Given the description of an element on the screen output the (x, y) to click on. 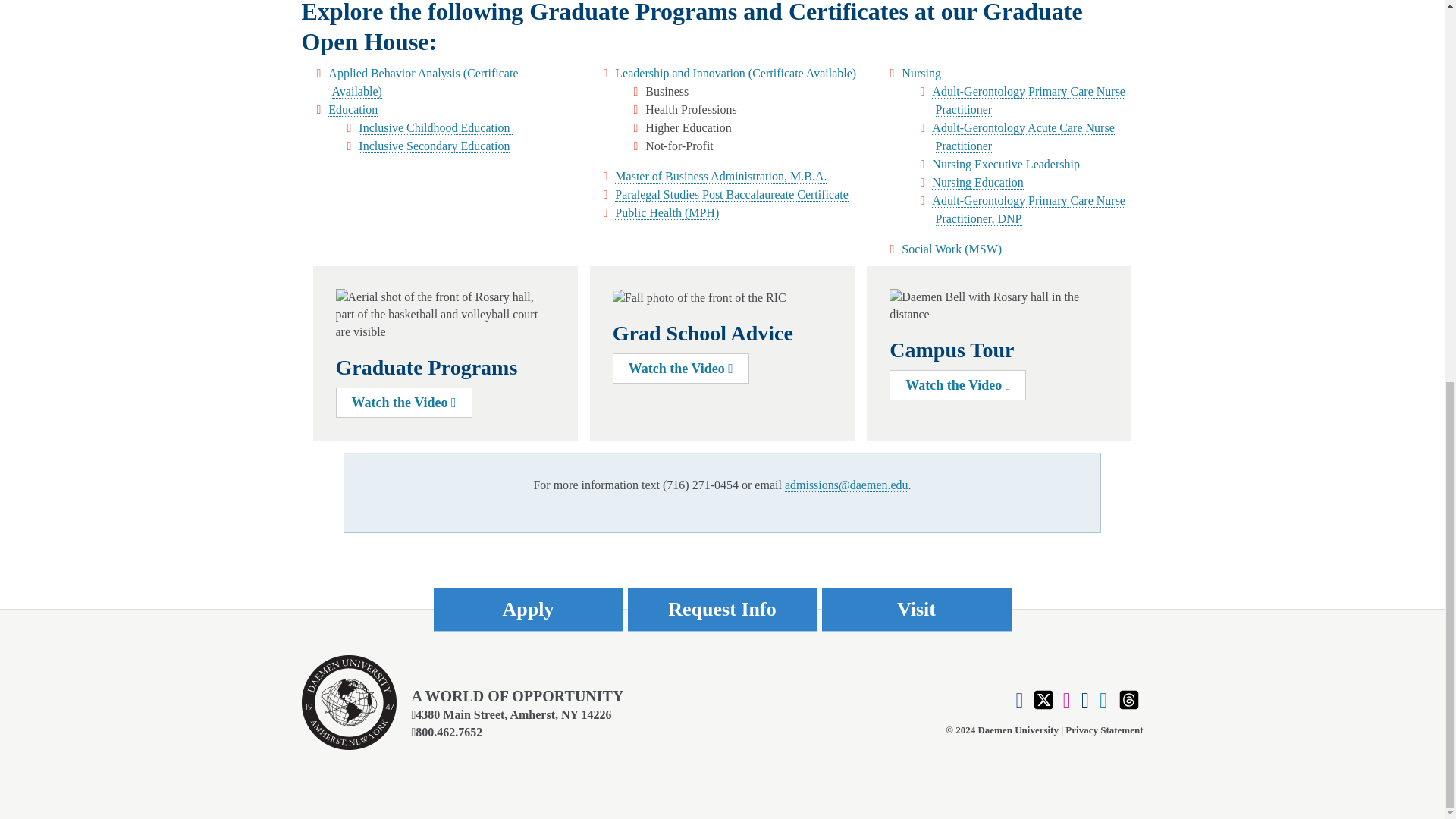
Applied Behavior Analysis (424, 82)
Master of Science in Inclusive Secondary Education Programs (433, 146)
Master of Science in Inclusive Childhood Education Programs (435, 128)
Education (353, 110)
Applied Behavior Analysis (394, 73)
Nursing (920, 73)
